Given the description of an element on the screen output the (x, y) to click on. 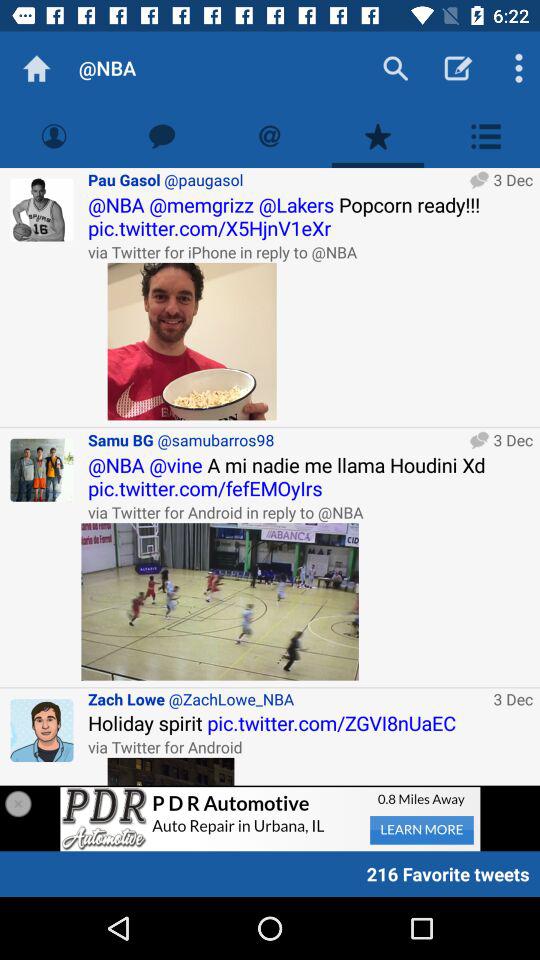
choose icon above the holiday spirit pic (287, 698)
